Given the description of an element on the screen output the (x, y) to click on. 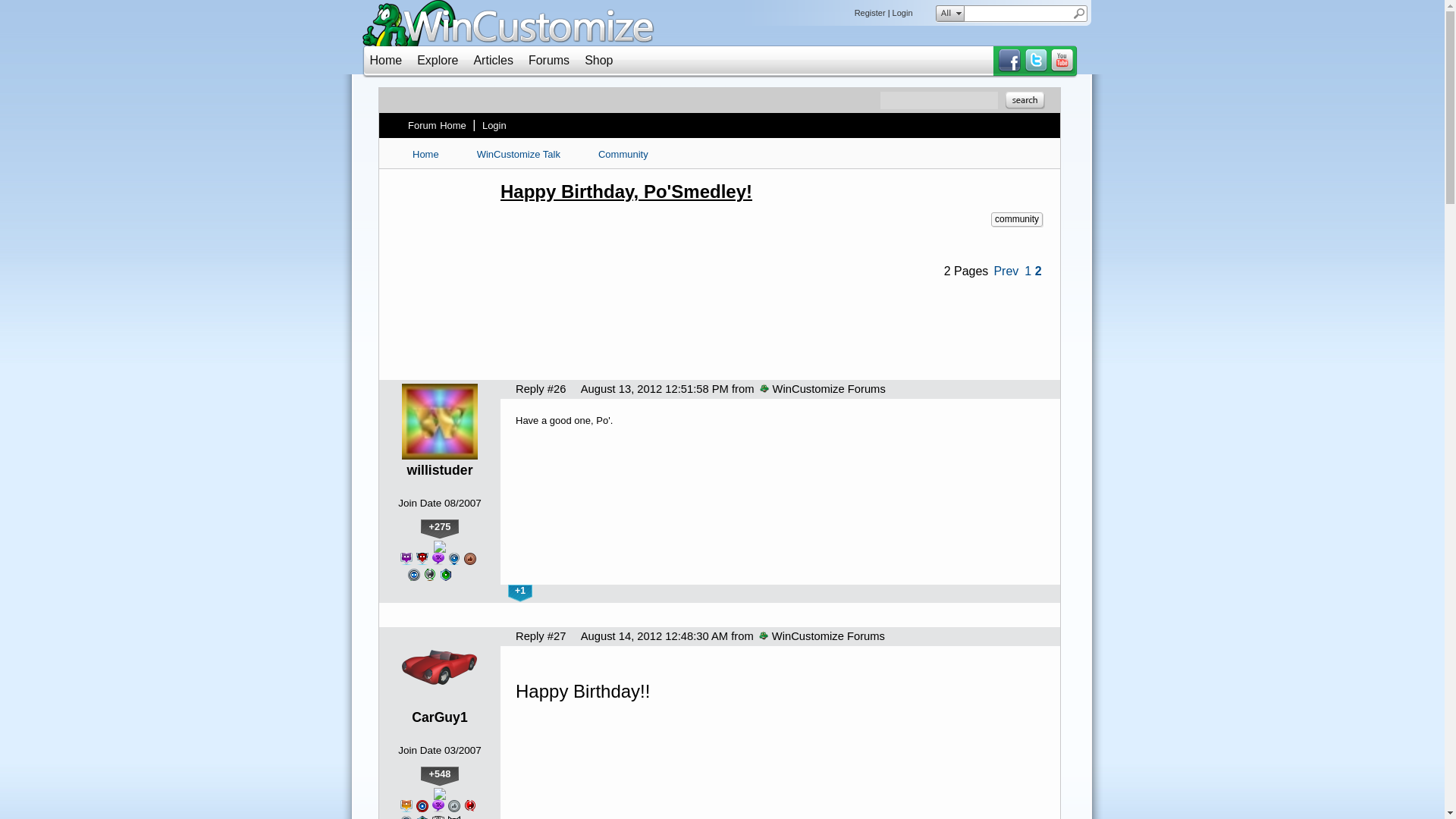
Home (386, 60)
Articles (492, 60)
Forum Home (436, 125)
Register (869, 12)
Login (902, 12)
all (946, 13)
Community (622, 154)
community (1016, 219)
Click to view original post (771, 191)
WinCustomize Talk (518, 154)
